Given the description of an element on the screen output the (x, y) to click on. 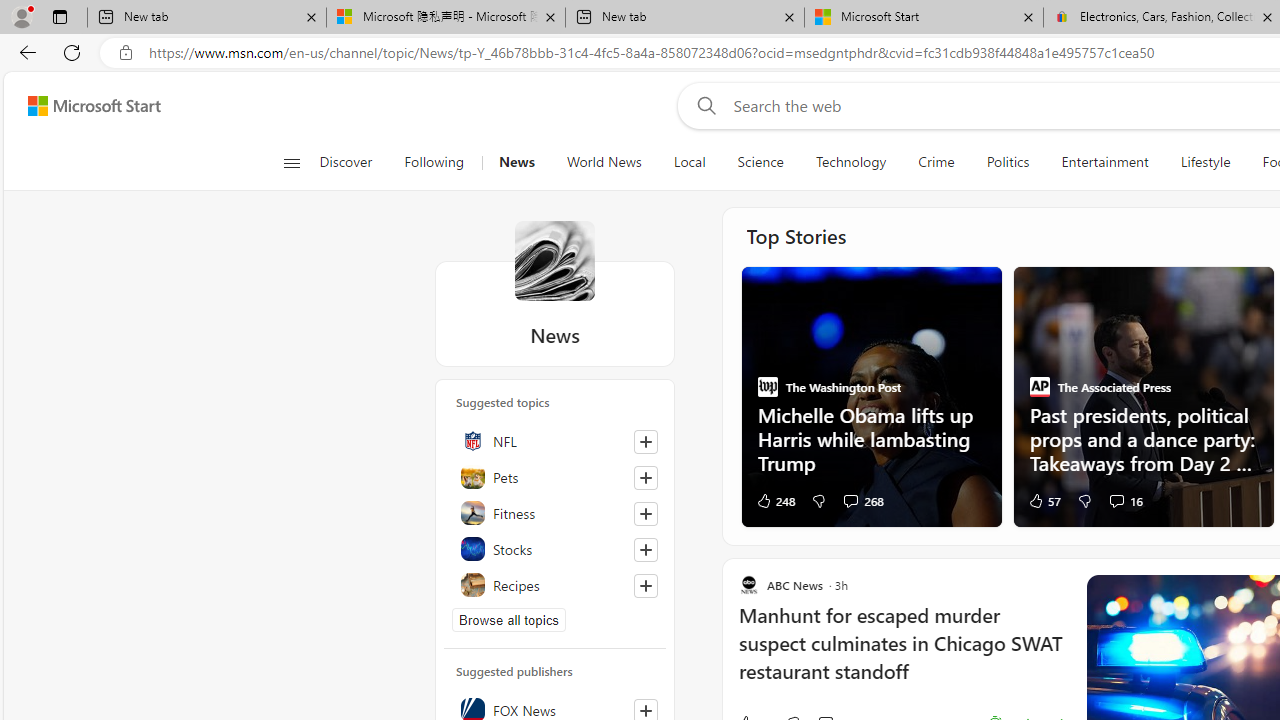
Pets (555, 476)
Technology (851, 162)
Lifestyle (1204, 162)
View comments 16 Comment (1124, 500)
Follow this topic (645, 585)
Michelle Obama lifts up Harris while lambasting Trump (870, 438)
View comments 268 Comment (863, 500)
Open navigation menu (291, 162)
World News (603, 162)
